Given the description of an element on the screen output the (x, y) to click on. 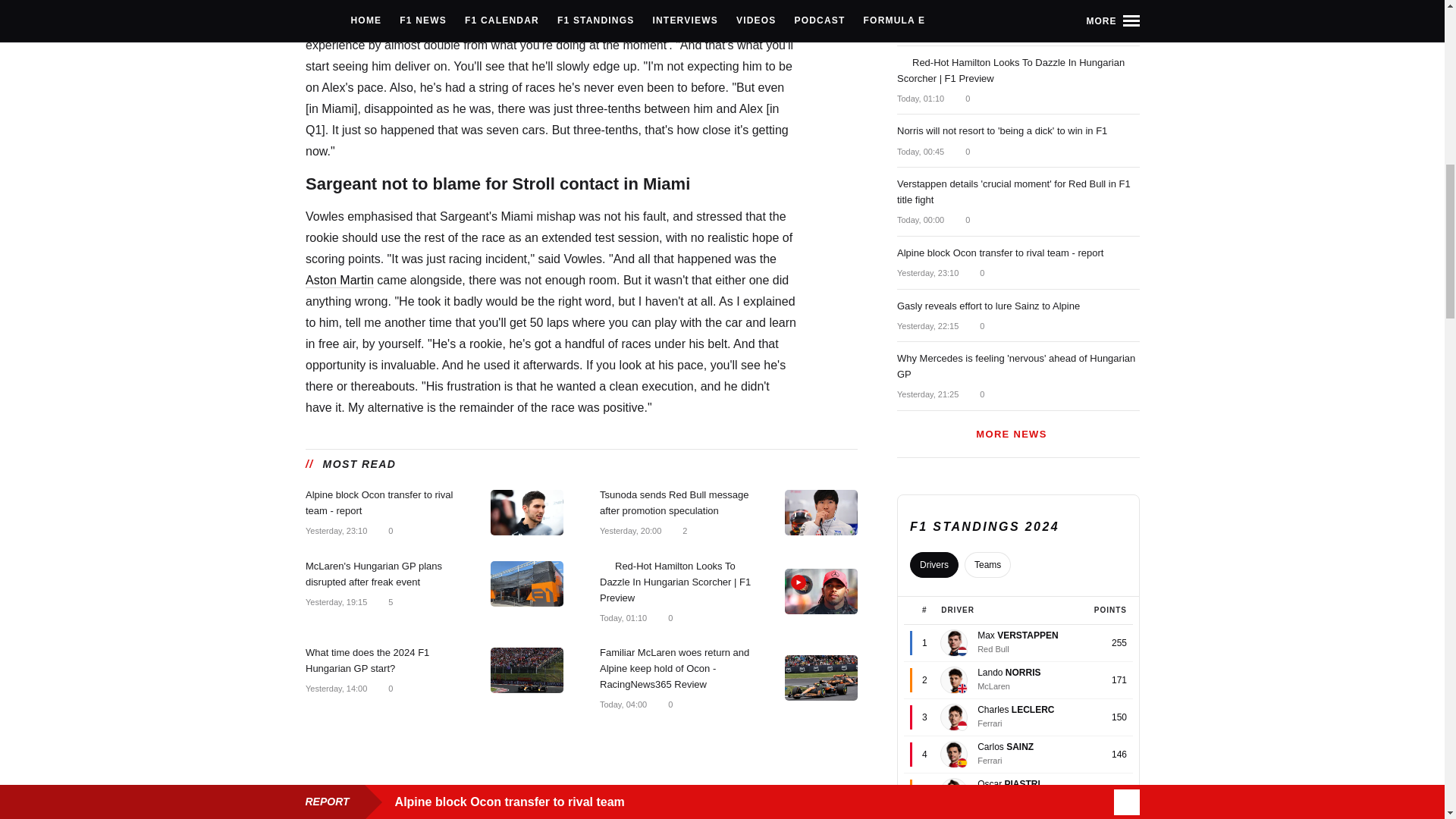
Thursday, 18 July 2024 at 20:00 (629, 530)
Thursday, 18 July 2024 at 14:00 (335, 687)
Thursday, 18 July 2024 at 23:10 (335, 530)
Thursday, 18 July 2024 at 19:15 (335, 601)
Friday, 19 July 2024 at 01:10 (622, 617)
Friday, 19 July 2024 at 04:00 (622, 704)
